Given the description of an element on the screen output the (x, y) to click on. 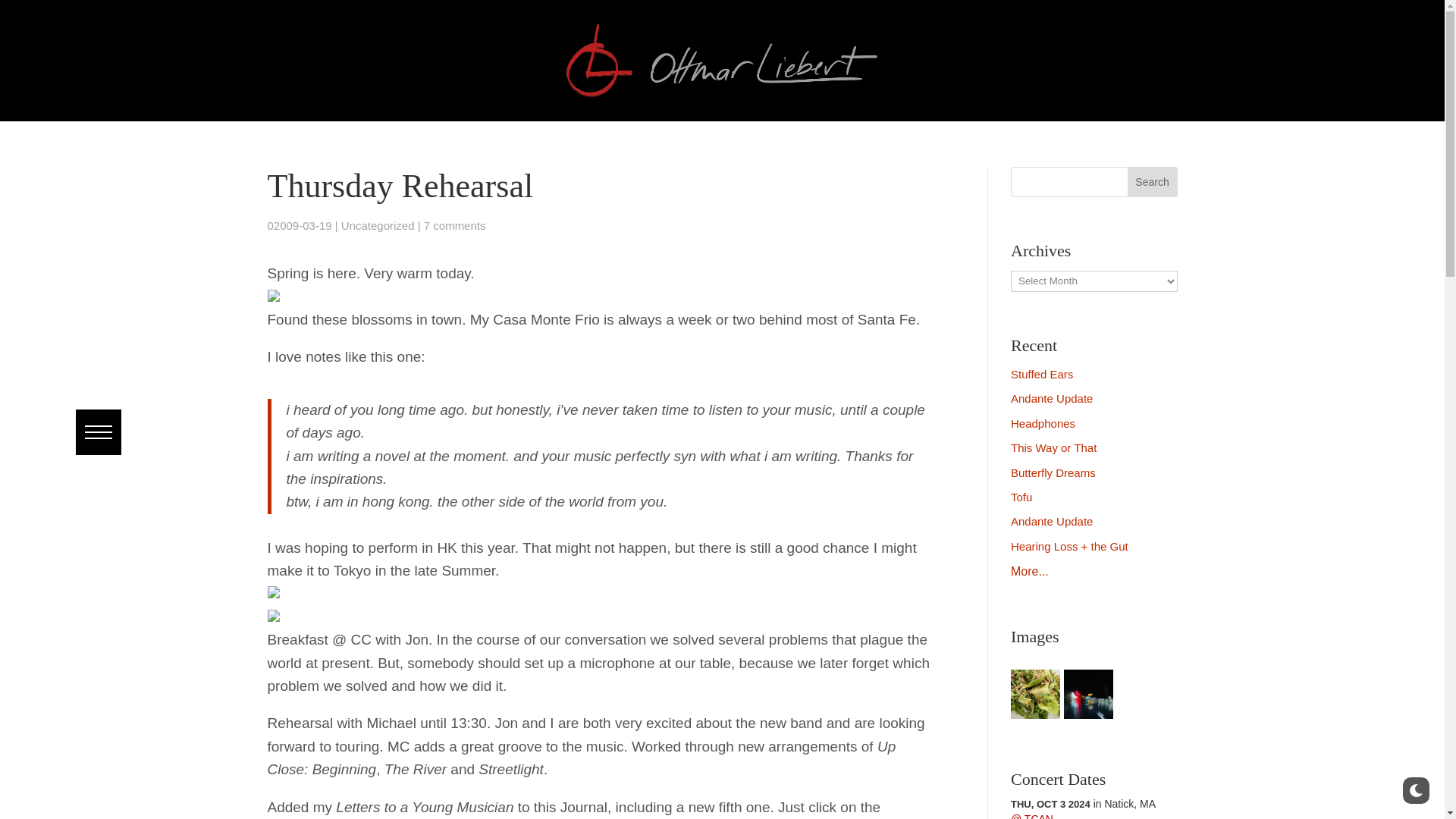
Search (1151, 182)
Uncategorized (377, 225)
7 comments (454, 225)
Stuffed Ears (1041, 373)
Headphones (1042, 422)
Andante Update (1051, 521)
Tofu (1021, 496)
Search (1151, 182)
ol-hand-drawn-logo-8bit (722, 60)
Andante Update (1051, 398)
Search (48, 10)
This Way or That (1053, 447)
Butterfly Dreams (1053, 472)
